Given the description of an element on the screen output the (x, y) to click on. 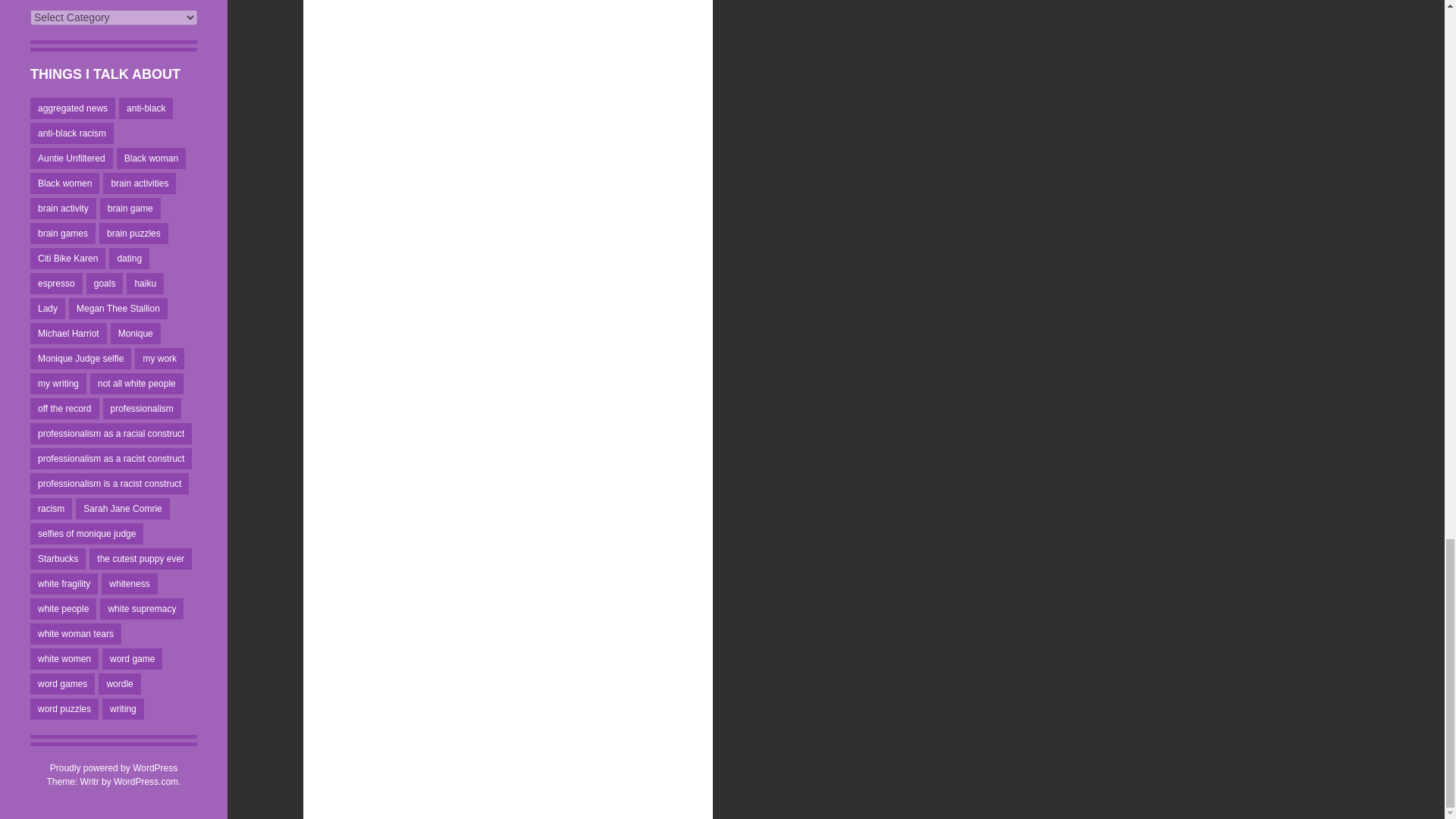
A Semantic Personal Publishing Platform (113, 767)
